Given the description of an element on the screen output the (x, y) to click on. 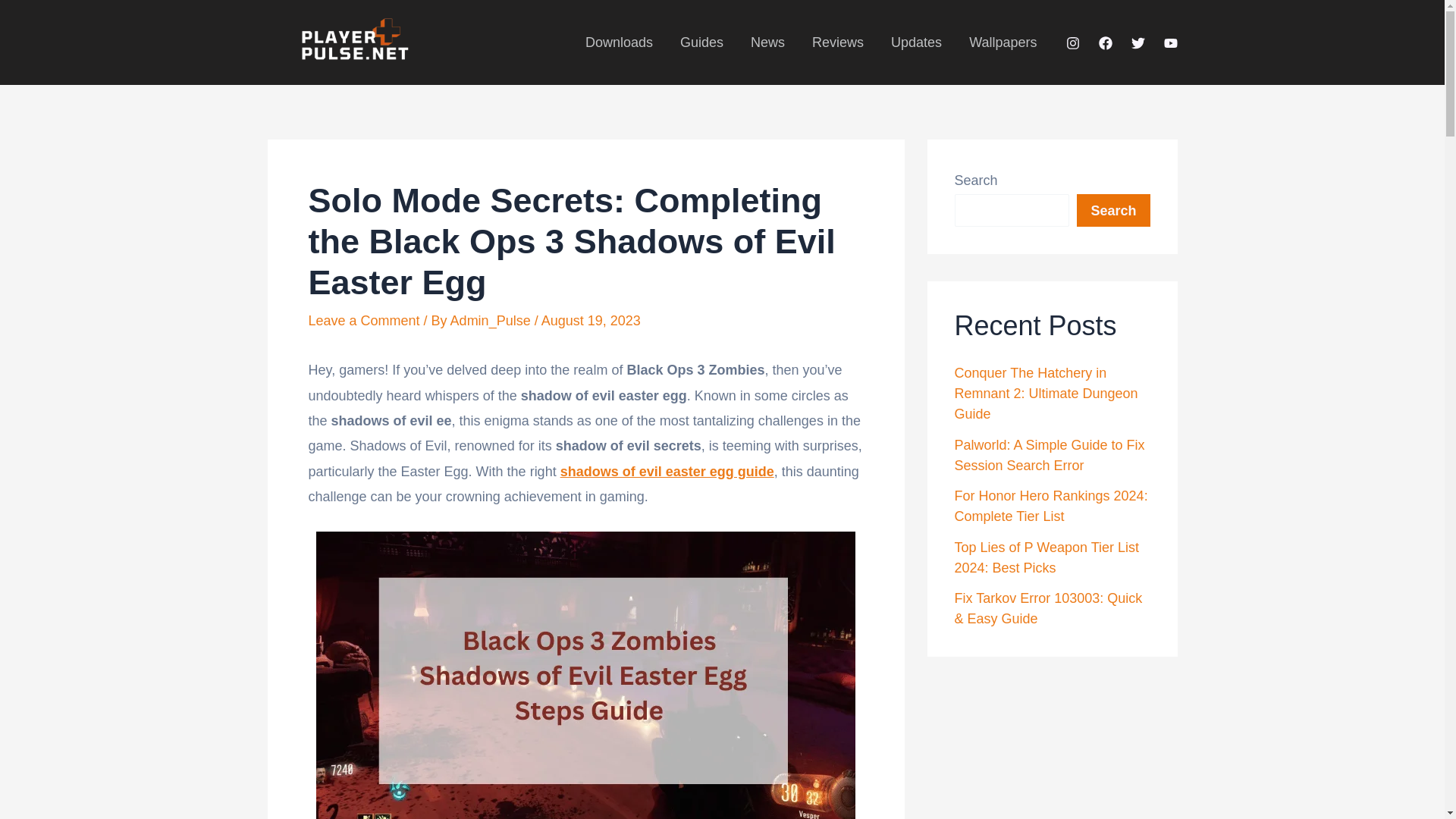
Conquer The Hatchery in Remnant 2: Ultimate Dungeon Guide (1045, 393)
Leave a Comment (363, 320)
Wallpapers (1002, 42)
Updates (916, 42)
Downloads (619, 42)
shadows of evil easter egg guide (667, 471)
For Honor Hero Rankings 2024: Complete Tier List (1050, 506)
Reviews (837, 42)
Search (1113, 210)
Top Lies of P Weapon Tier List 2024: Best Picks (1045, 557)
